Given the description of an element on the screen output the (x, y) to click on. 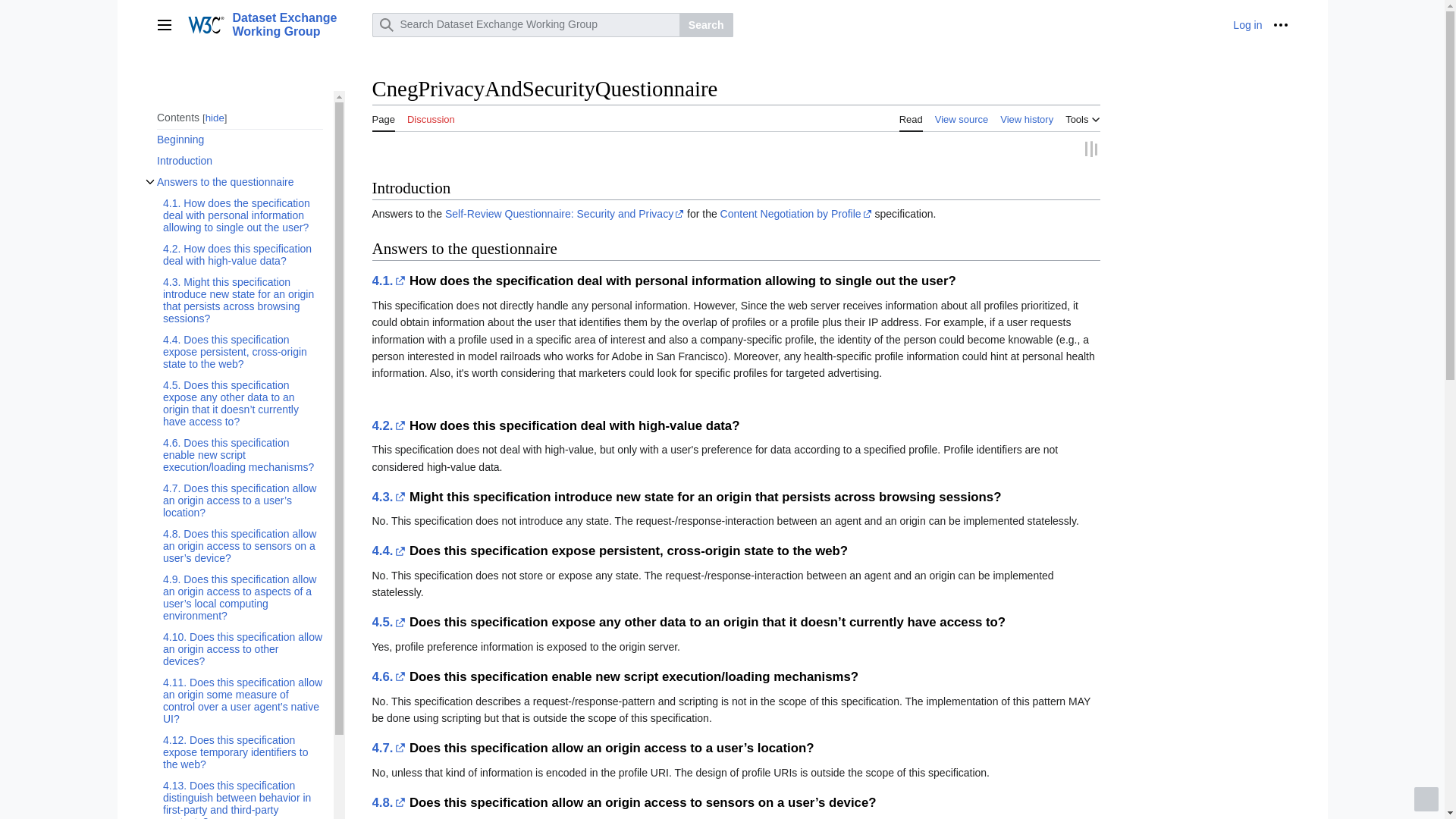
Answers to the questionnaire (238, 181)
More options (1280, 24)
hide (214, 117)
Introduction (238, 160)
Toggle Answers to the questionnaire subsection (149, 181)
Log in (1247, 24)
Beginning (238, 138)
4.2. How does this specification deal with high-value data? (241, 254)
Dataset Exchange Working Group (270, 24)
Search (706, 24)
